Given the description of an element on the screen output the (x, y) to click on. 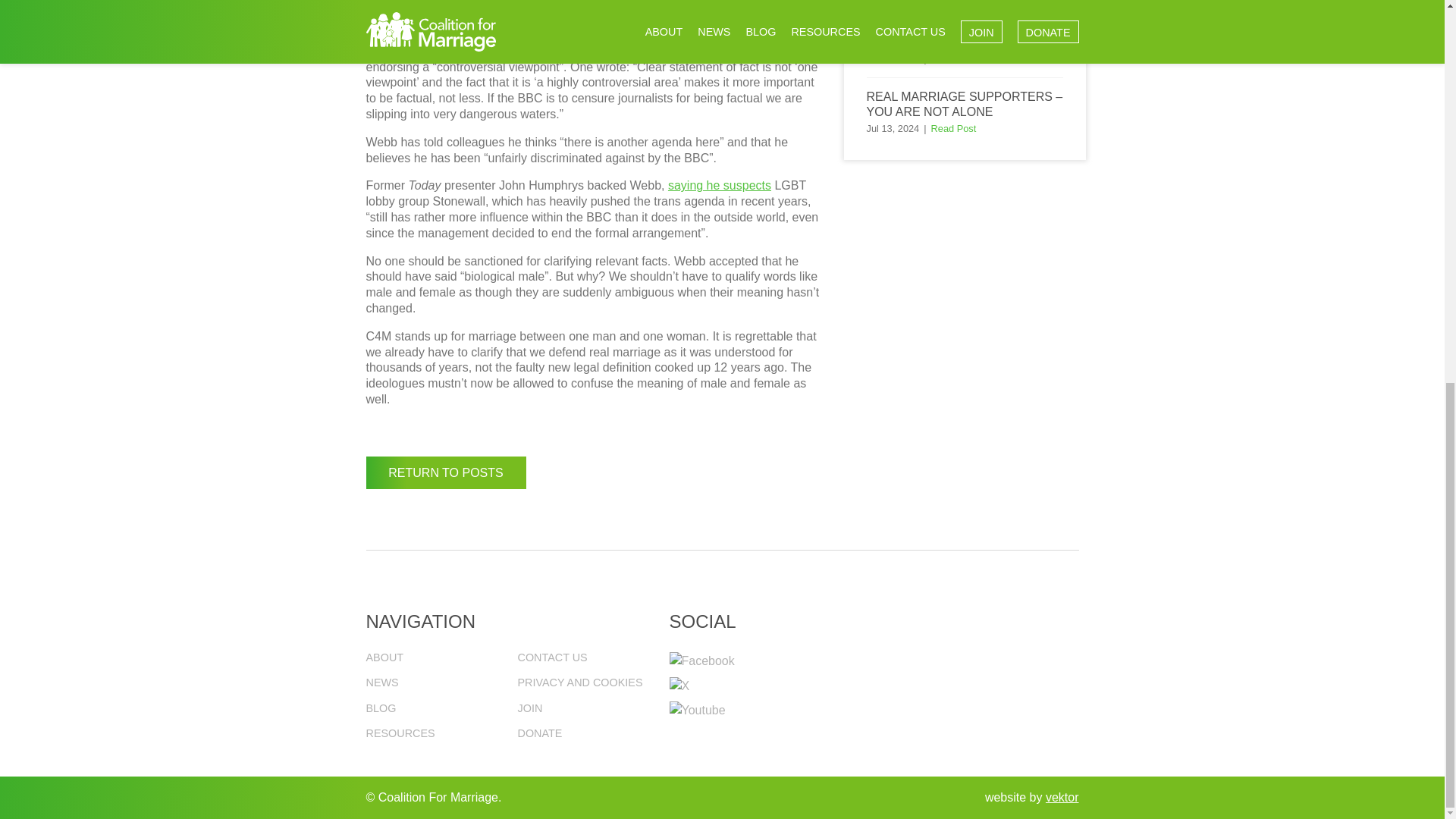
RETURN TO POSTS (445, 472)
Read Post (953, 128)
saying he suspects (719, 185)
Read Post (953, 58)
